Given the description of an element on the screen output the (x, y) to click on. 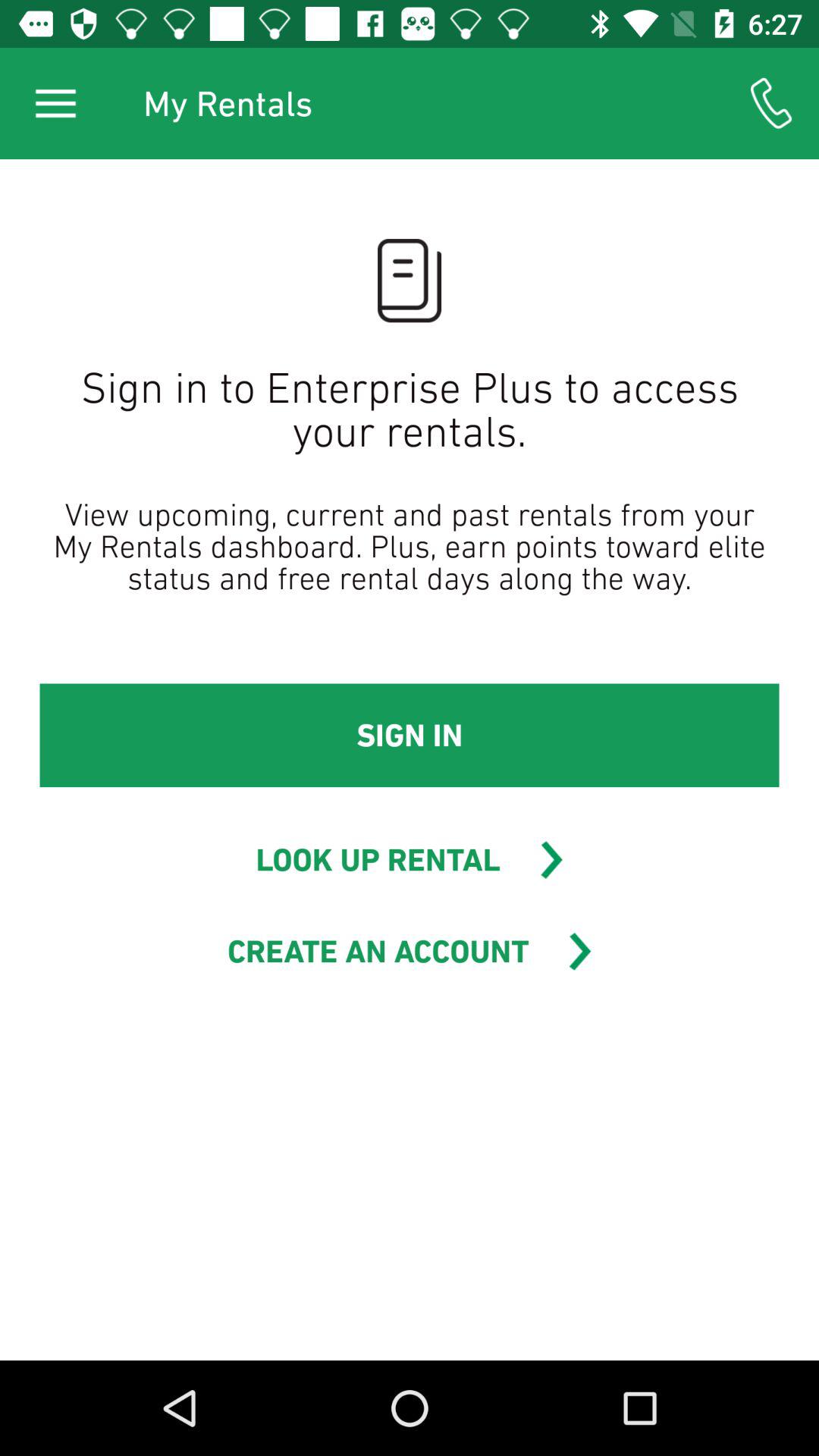
choose the item next to the my rentals icon (55, 103)
